Given the description of an element on the screen output the (x, y) to click on. 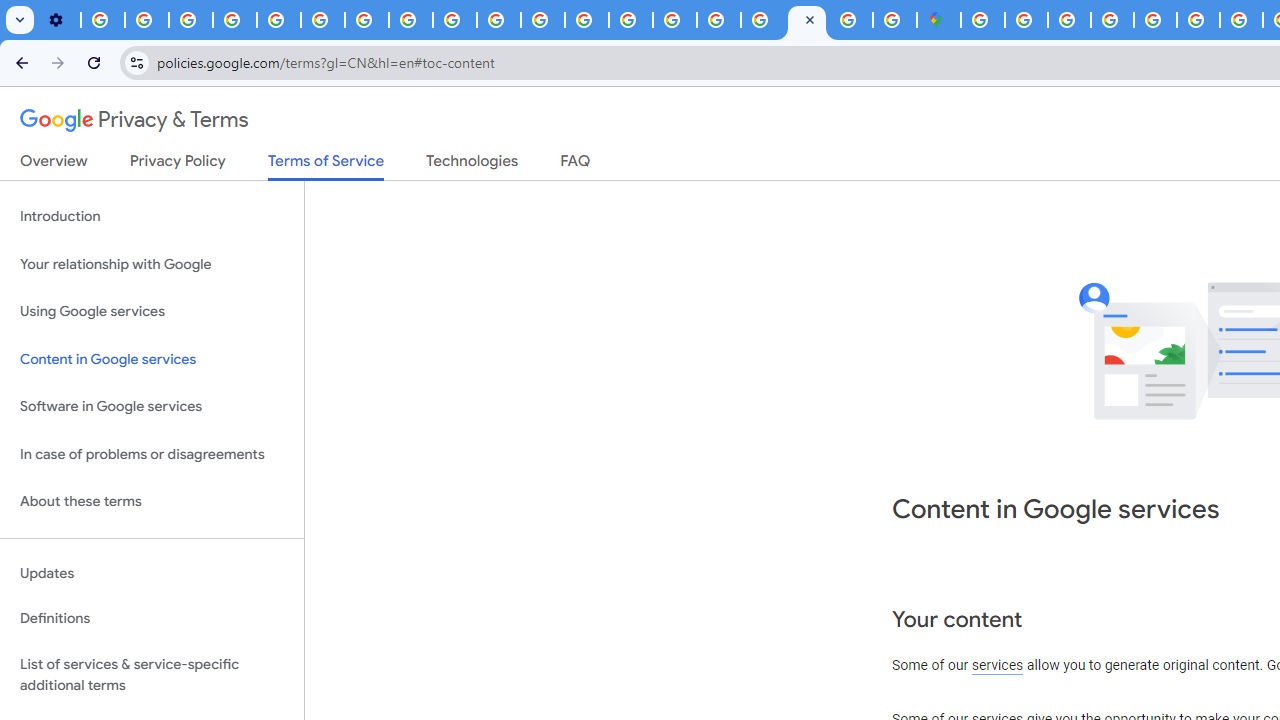
Privacy Checkup (454, 20)
Privacy Checkup (498, 20)
Sign in - Google Accounts (982, 20)
Privacy Help Center - Policies Help (1197, 20)
Terms and Conditions (1155, 20)
